Given the description of an element on the screen output the (x, y) to click on. 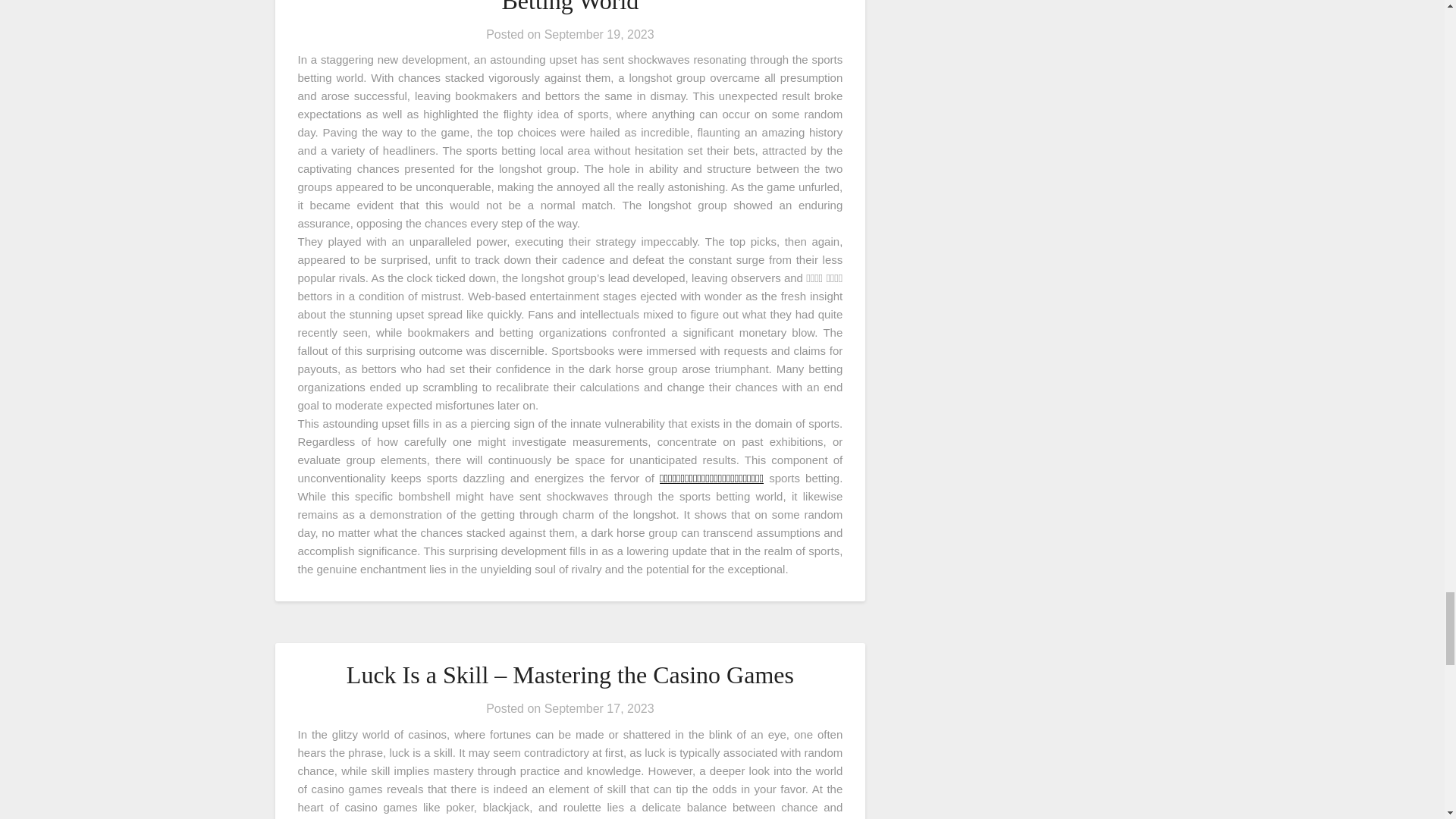
September 17, 2023 (598, 707)
September 19, 2023 (598, 33)
